Given the description of an element on the screen output the (x, y) to click on. 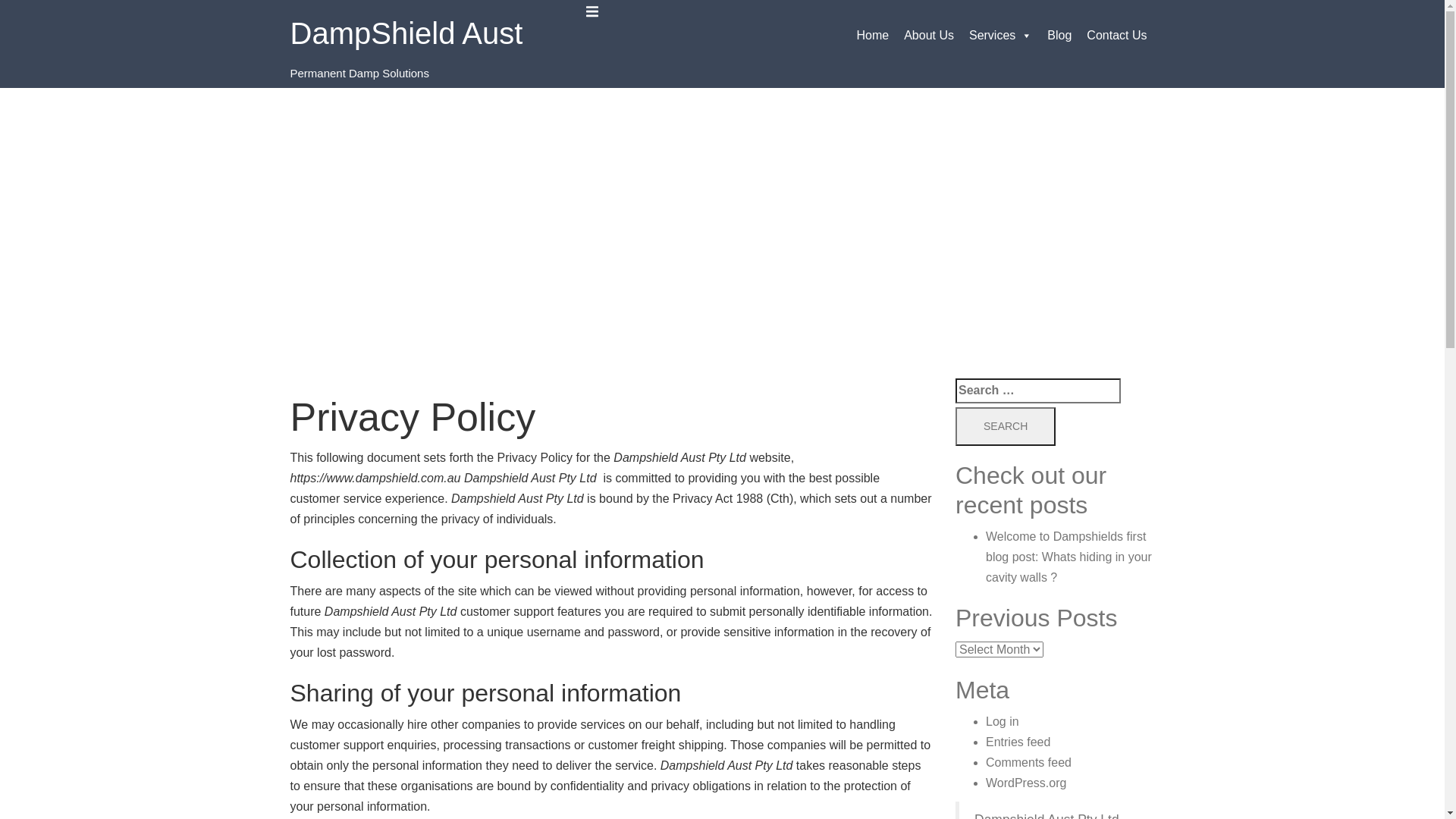
Home Element type: text (872, 35)
Search Element type: text (1005, 426)
Contact Us Element type: text (1116, 35)
Comments feed Element type: text (1028, 762)
WordPress.org Element type: text (1025, 782)
DampShield Aust Element type: text (405, 33)
Services Element type: text (1000, 35)
Entries feed Element type: text (1017, 741)
Log in Element type: text (1002, 721)
About Us Element type: text (928, 35)
Blog Element type: text (1059, 35)
